Given the description of an element on the screen output the (x, y) to click on. 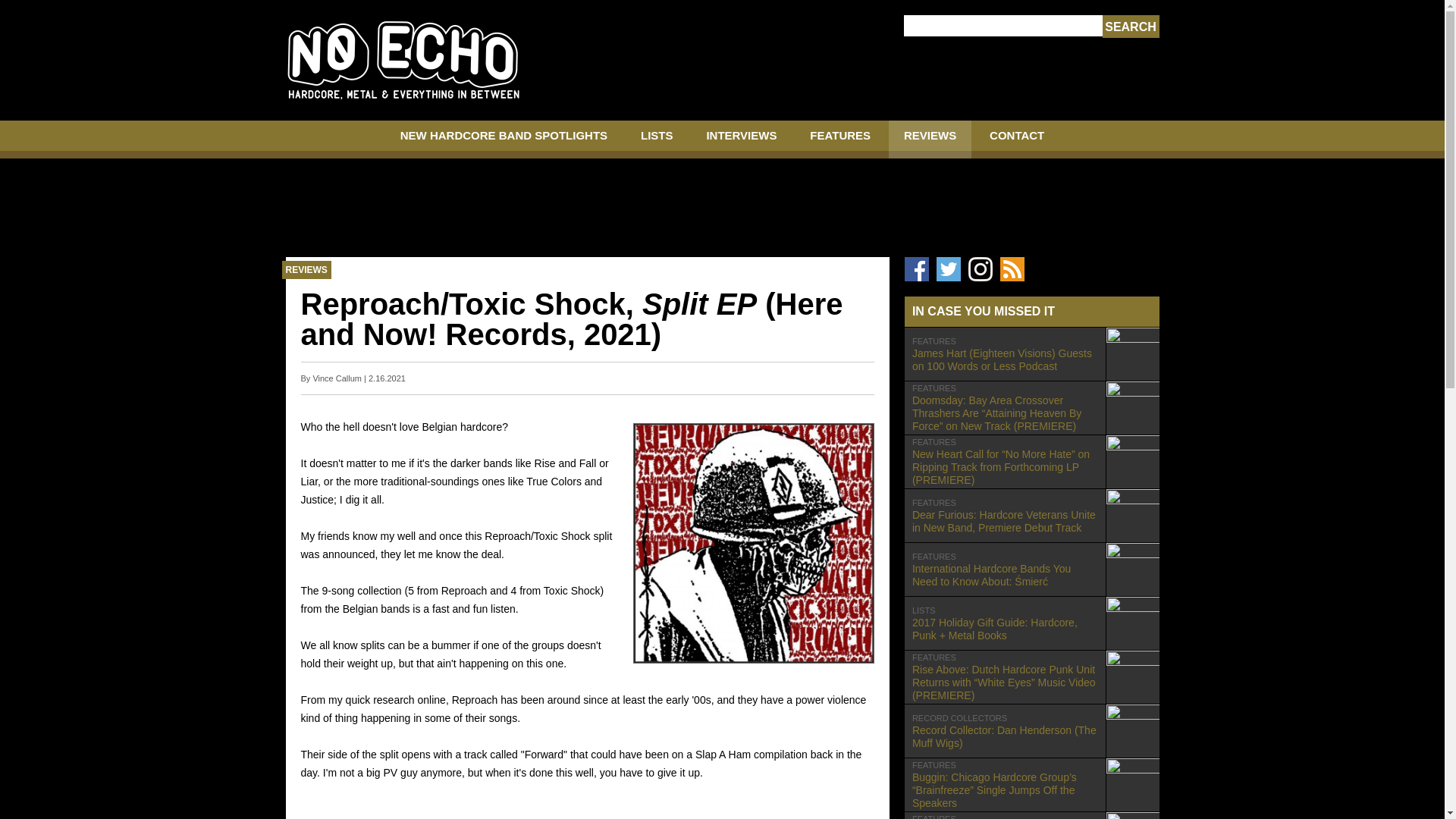
LISTS (657, 139)
FEATURES (839, 139)
NEW HARDCORE BAND SPOTLIGHTS (504, 139)
REVIEWS (929, 139)
INTERVIEWS (741, 139)
CONTACT (1016, 139)
Search (1130, 26)
Search (1130, 26)
